Given the description of an element on the screen output the (x, y) to click on. 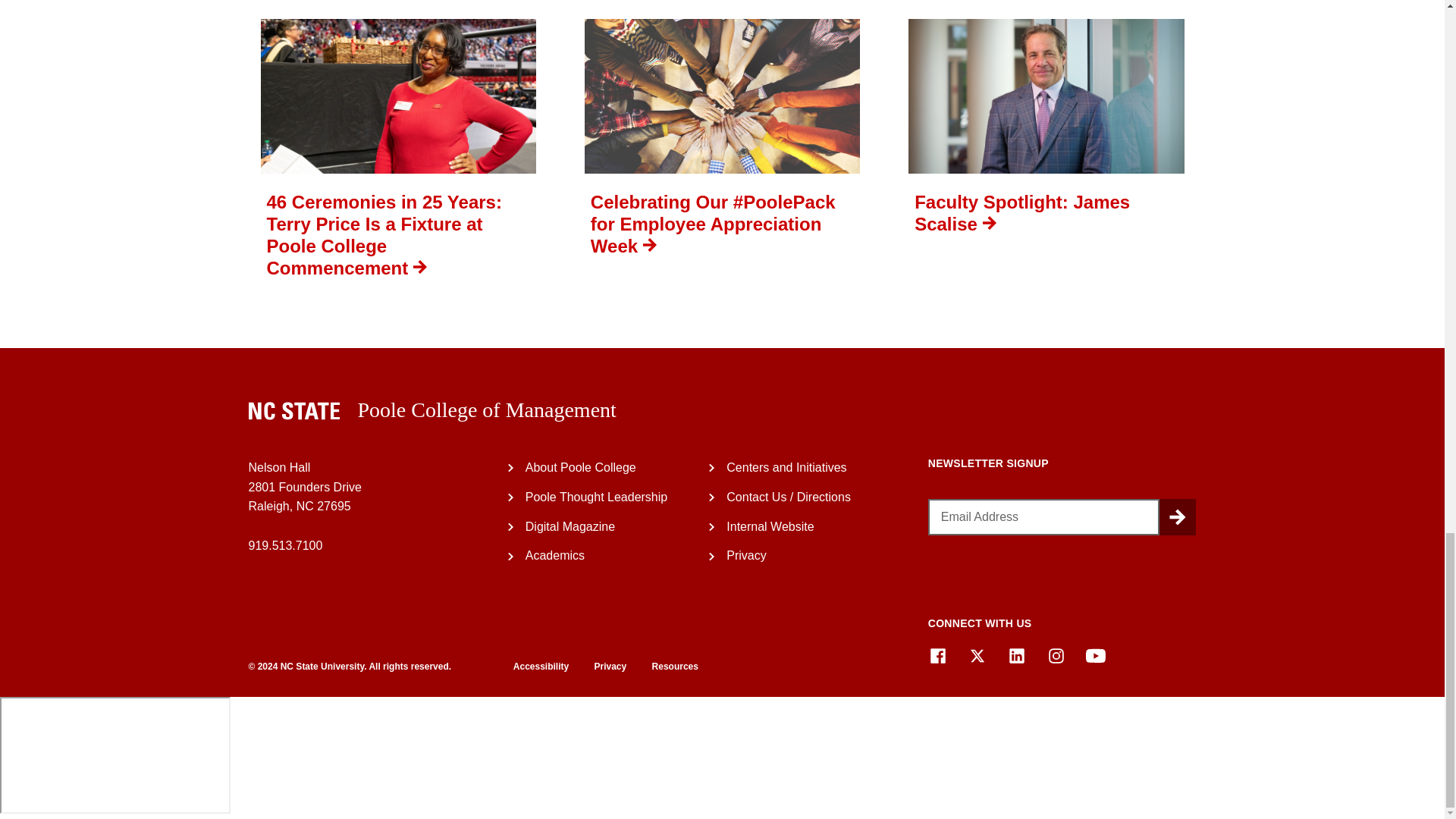
X (977, 655)
Instagram (1055, 655)
Facebook (937, 655)
LinkedIn (1016, 655)
YouTube (1095, 655)
